Given the description of an element on the screen output the (x, y) to click on. 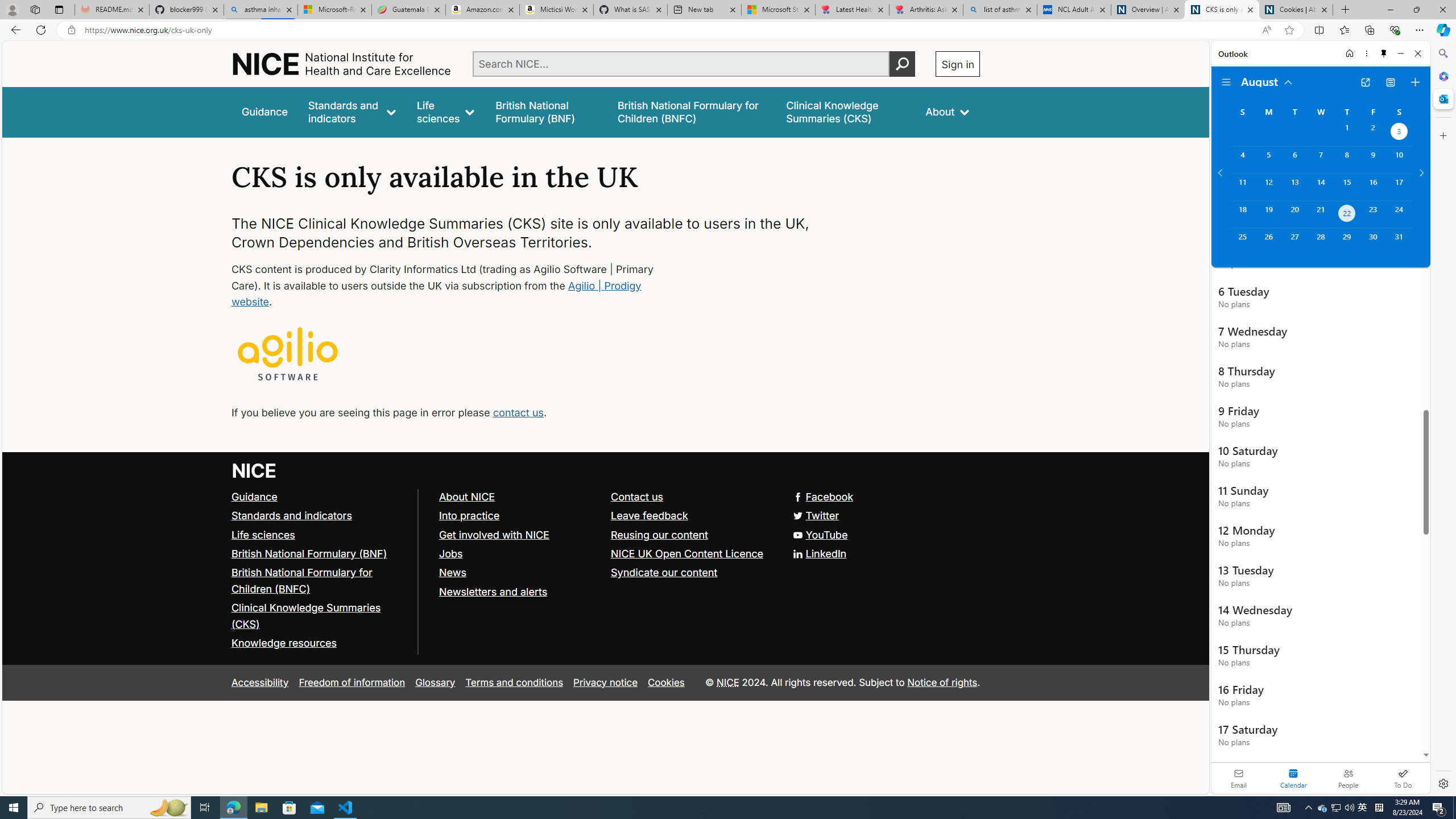
Friday, August 9, 2024.  (1372, 159)
Twitter (816, 515)
Cookies | About | NICE (1295, 9)
Tuesday, August 27, 2024.  (1294, 241)
asthma inhaler - Search (260, 9)
Close Customize pane (1442, 135)
Into practice (468, 515)
Folder navigation (1225, 82)
Life sciences (263, 534)
Saturday, August 24, 2024.  (1399, 214)
Notice of rights (941, 681)
Accessibility (259, 682)
